Given the description of an element on the screen output the (x, y) to click on. 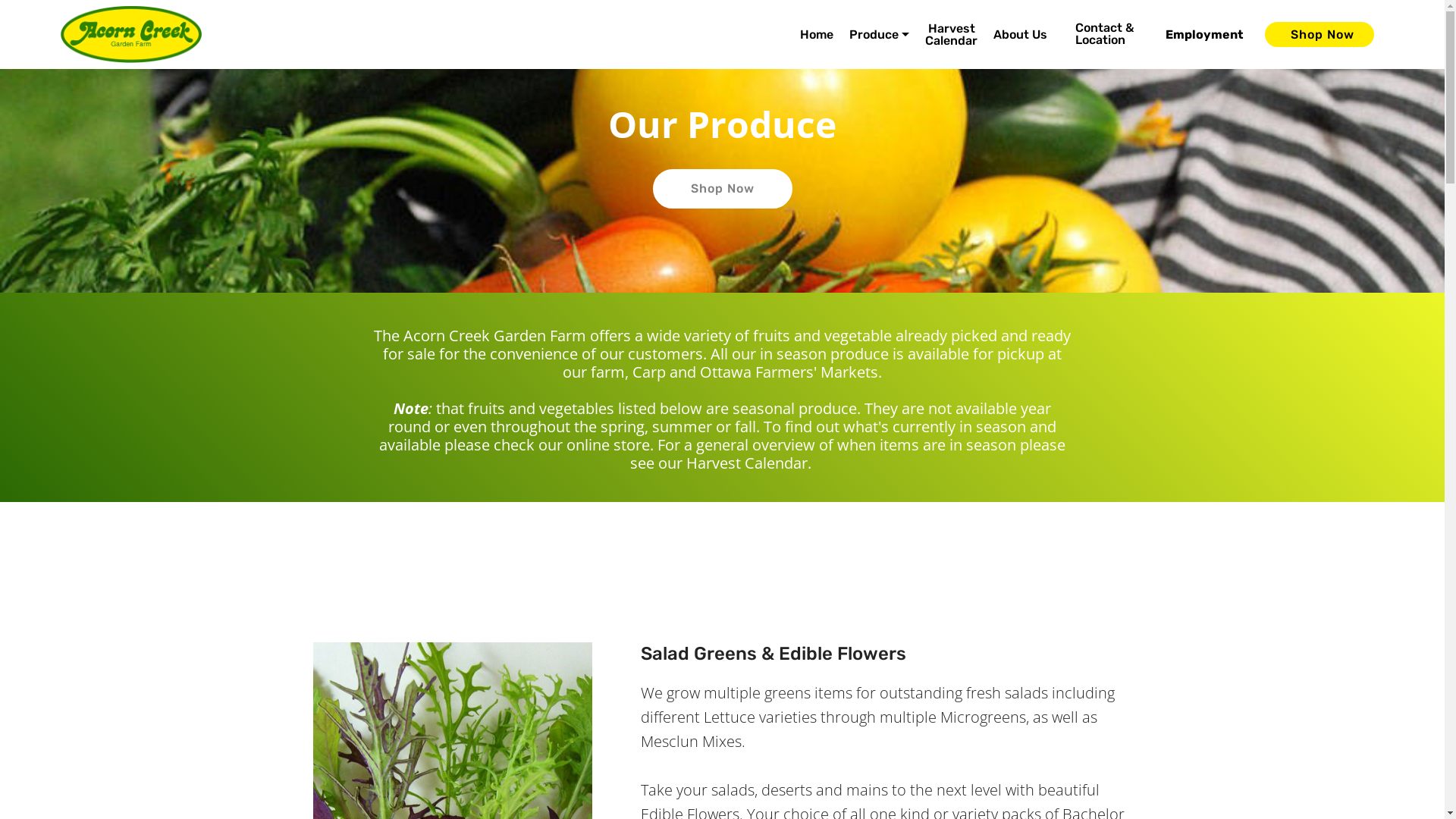
 Harvest
Calendar Element type: text (951, 33)
Employment Element type: text (1204, 34)
online store Element type: text (607, 444)
Contact &
Location Element type: text (1103, 33)
Shop Now Element type: text (721, 188)
Produce Element type: text (879, 33)
Home Element type: text (816, 33)
About Us Element type: text (1020, 33)
Shop Now Element type: text (1319, 34)
Harvest Calendar Element type: text (745, 462)
